Given the description of an element on the screen output the (x, y) to click on. 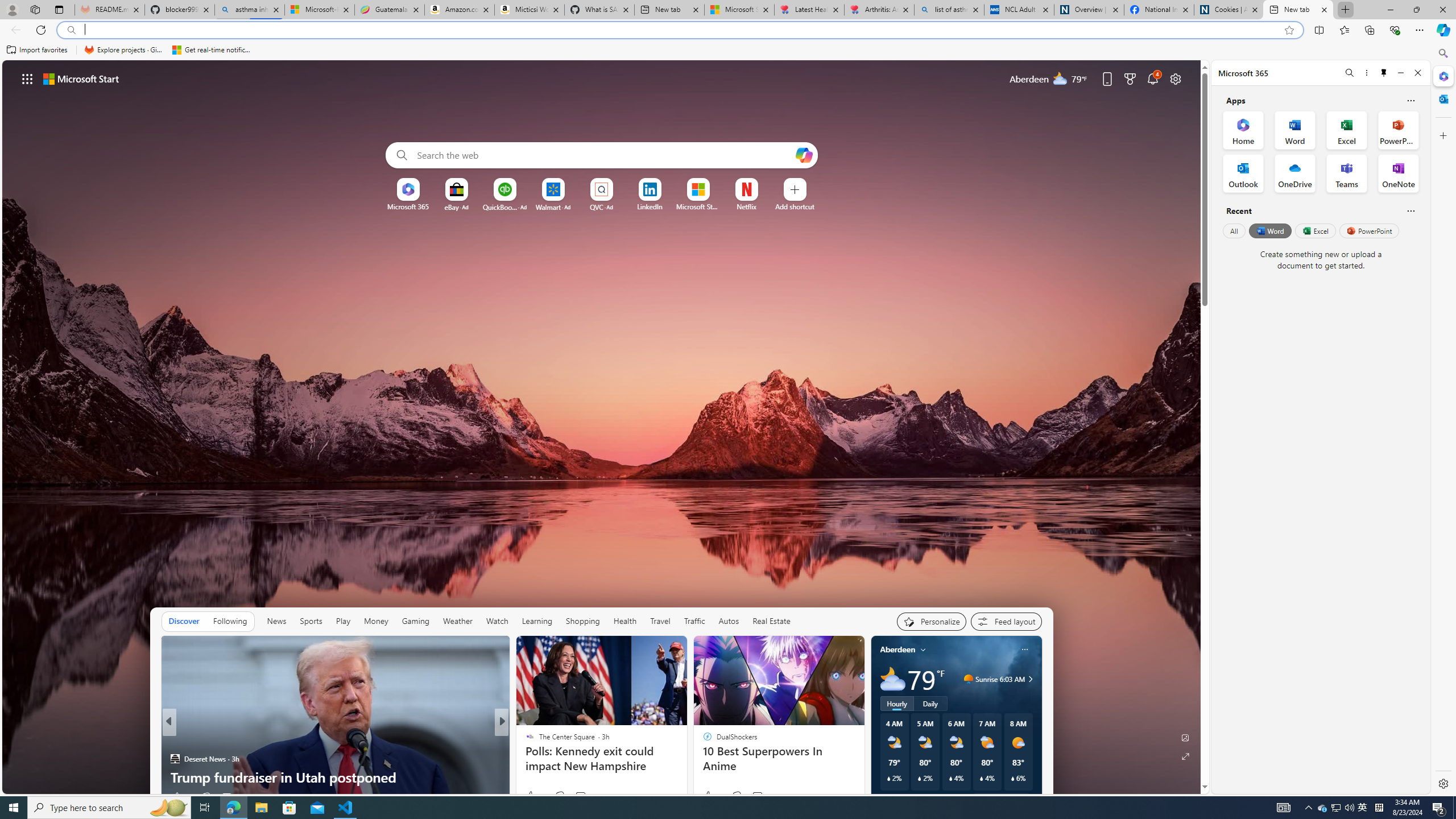
Mostly cloudy (892, 678)
Daily (929, 703)
View comments 29 Comment (576, 797)
Netflix (746, 206)
63 Like (530, 796)
Class: weather-arrow-glyph (1029, 678)
